Given the description of an element on the screen output the (x, y) to click on. 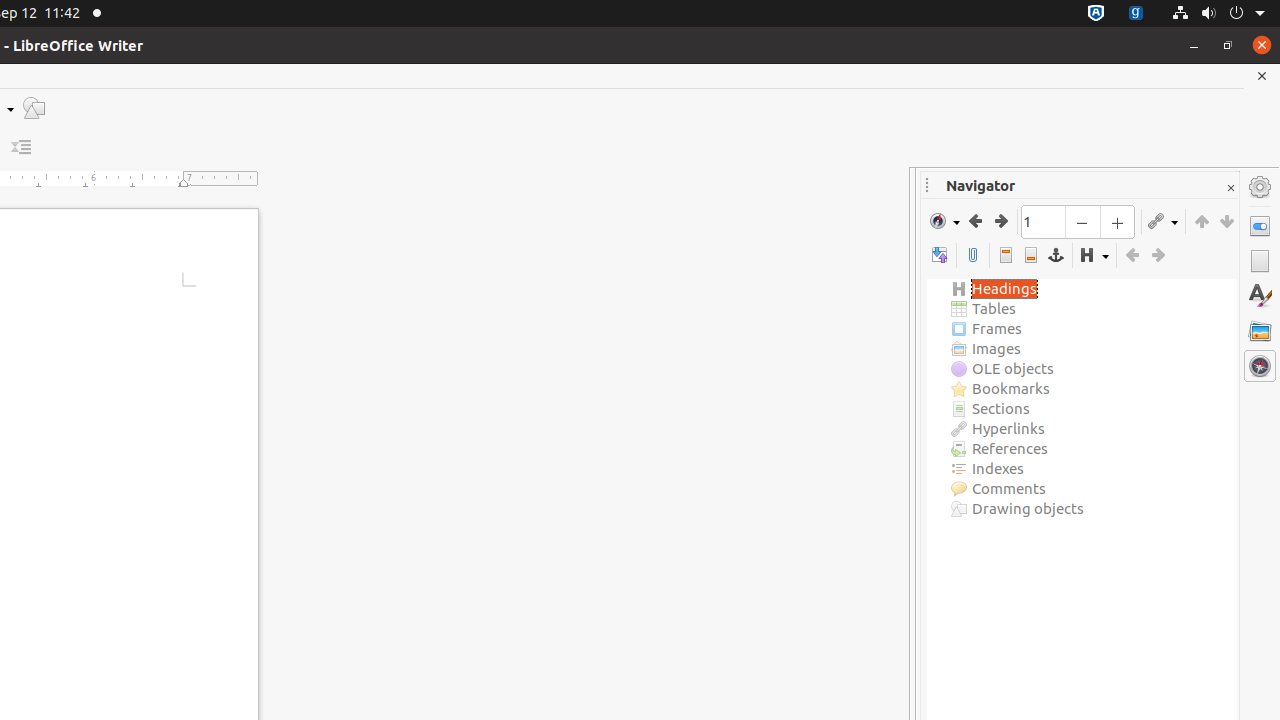
Navigator Element type: radio-button (1260, 366)
Drag Mode Element type: push-button (1163, 221)
Properties Element type: radio-button (1260, 226)
:1.72/StatusNotifierItem Element type: menu (1096, 13)
Gallery Element type: radio-button (1260, 331)
